Given the description of an element on the screen output the (x, y) to click on. 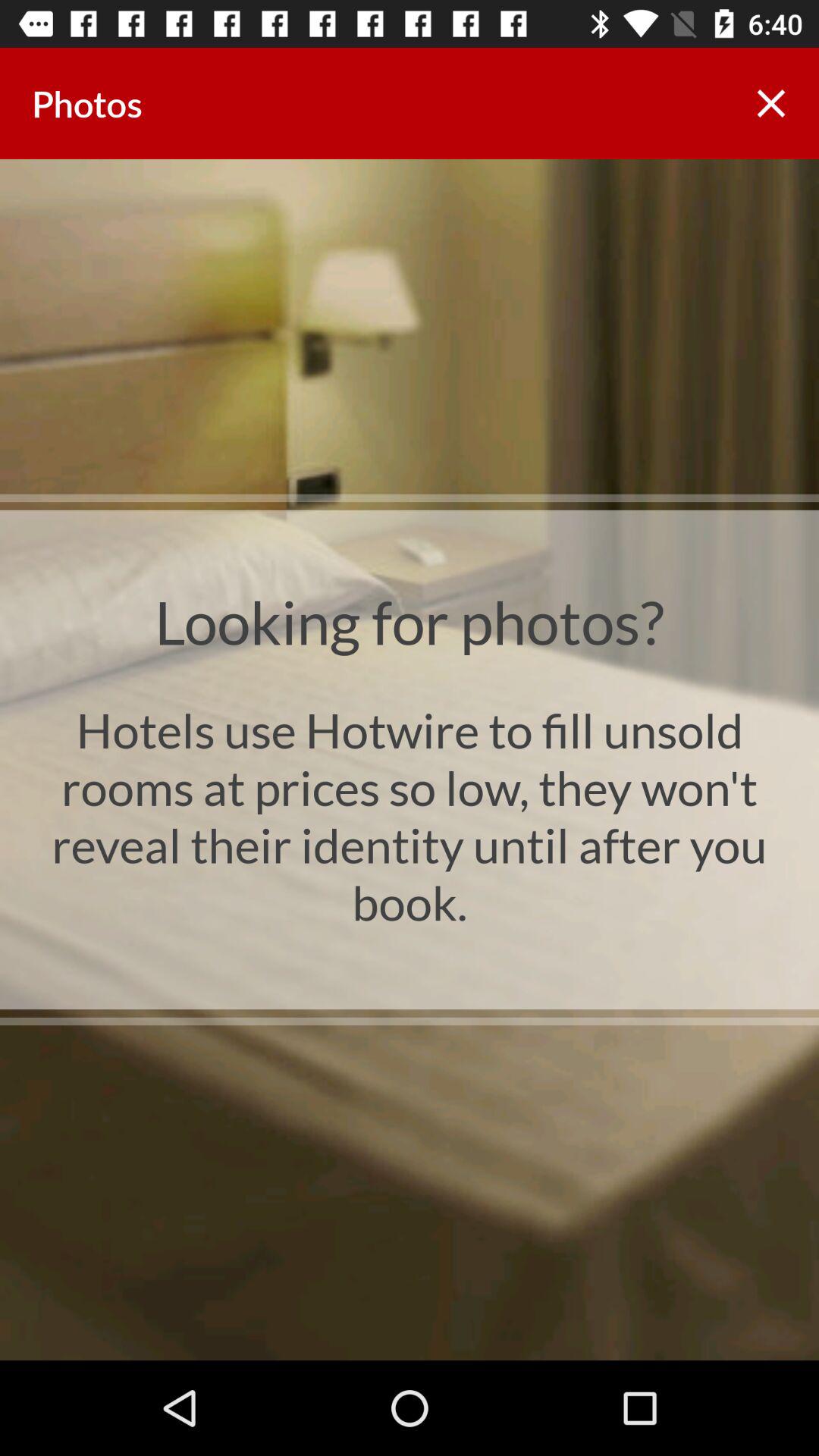
turn on icon at the top right corner (771, 103)
